Given the description of an element on the screen output the (x, y) to click on. 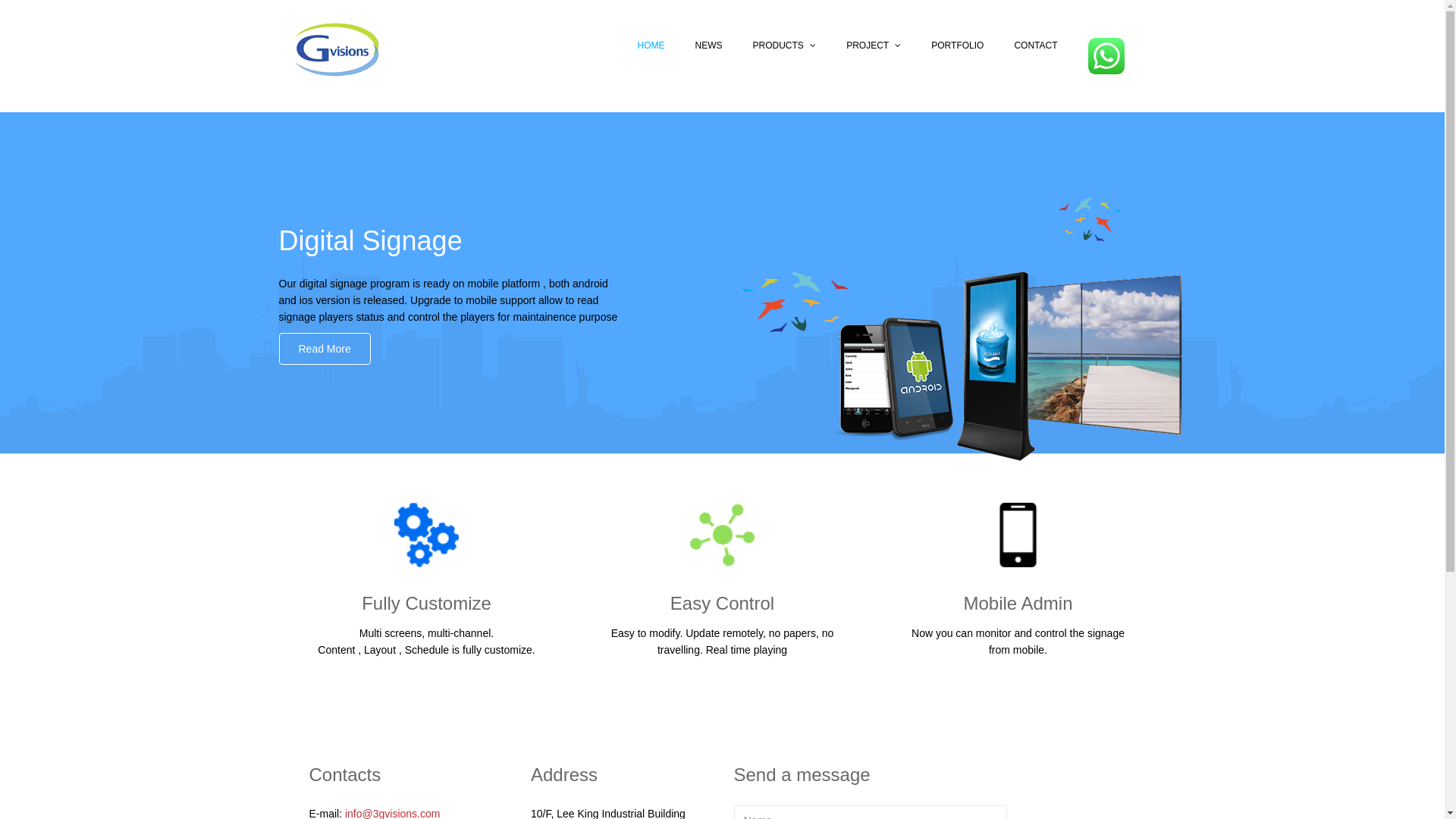
PORTFOLIO Element type: text (957, 45)
NEWS Element type: text (708, 45)
PROJECT Element type: text (873, 45)
PRODUCTS Element type: text (784, 45)
Read More Element type: text (324, 348)
CONTACT Element type: text (1035, 45)
HOME Element type: text (650, 45)
